Given the description of an element on the screen output the (x, y) to click on. 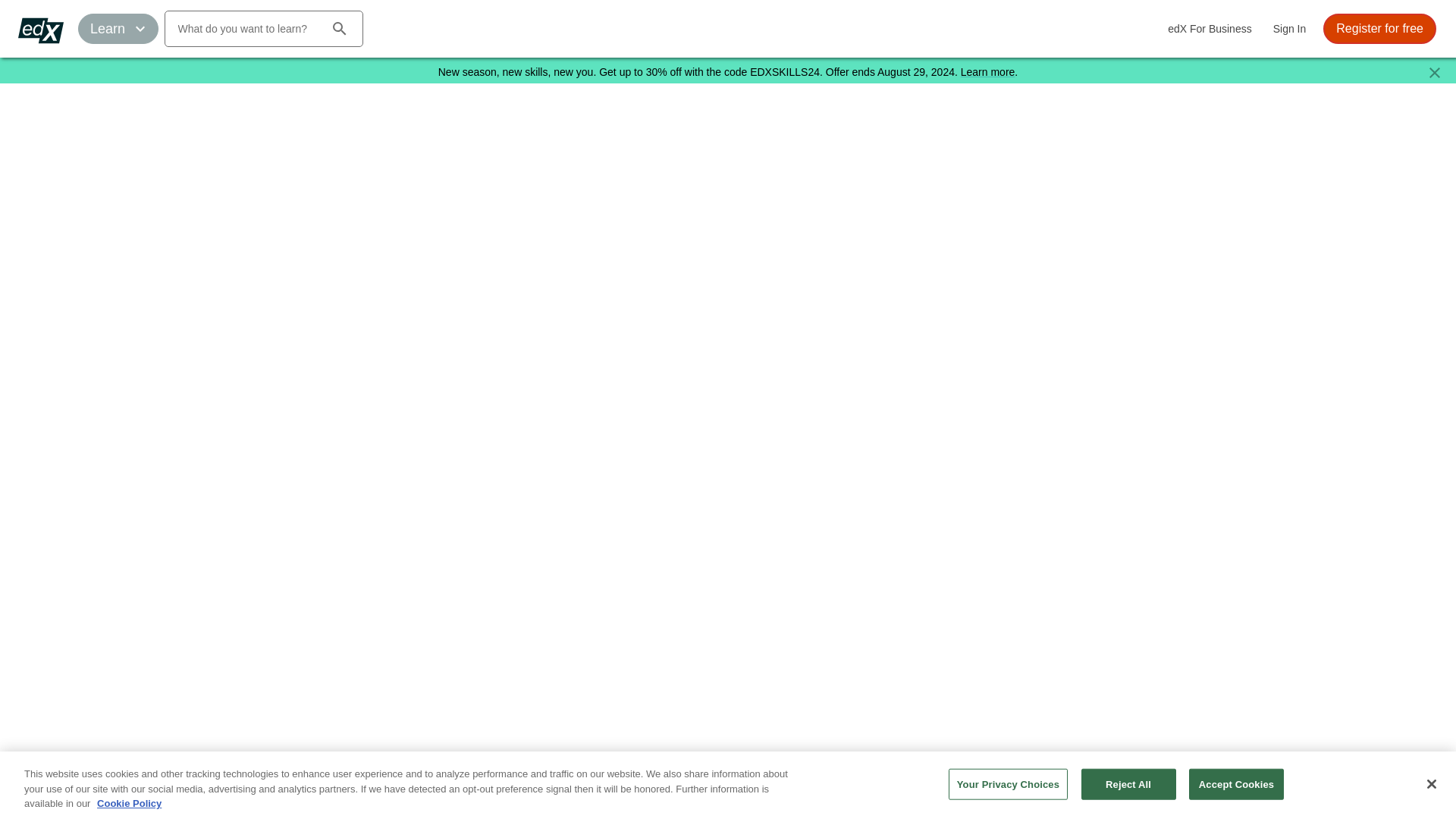
edX For Business (1209, 29)
Register for free (1379, 28)
Sign In (1289, 28)
Submit your search query (339, 28)
Learn more (987, 71)
Learn (118, 28)
